Given the description of an element on the screen output the (x, y) to click on. 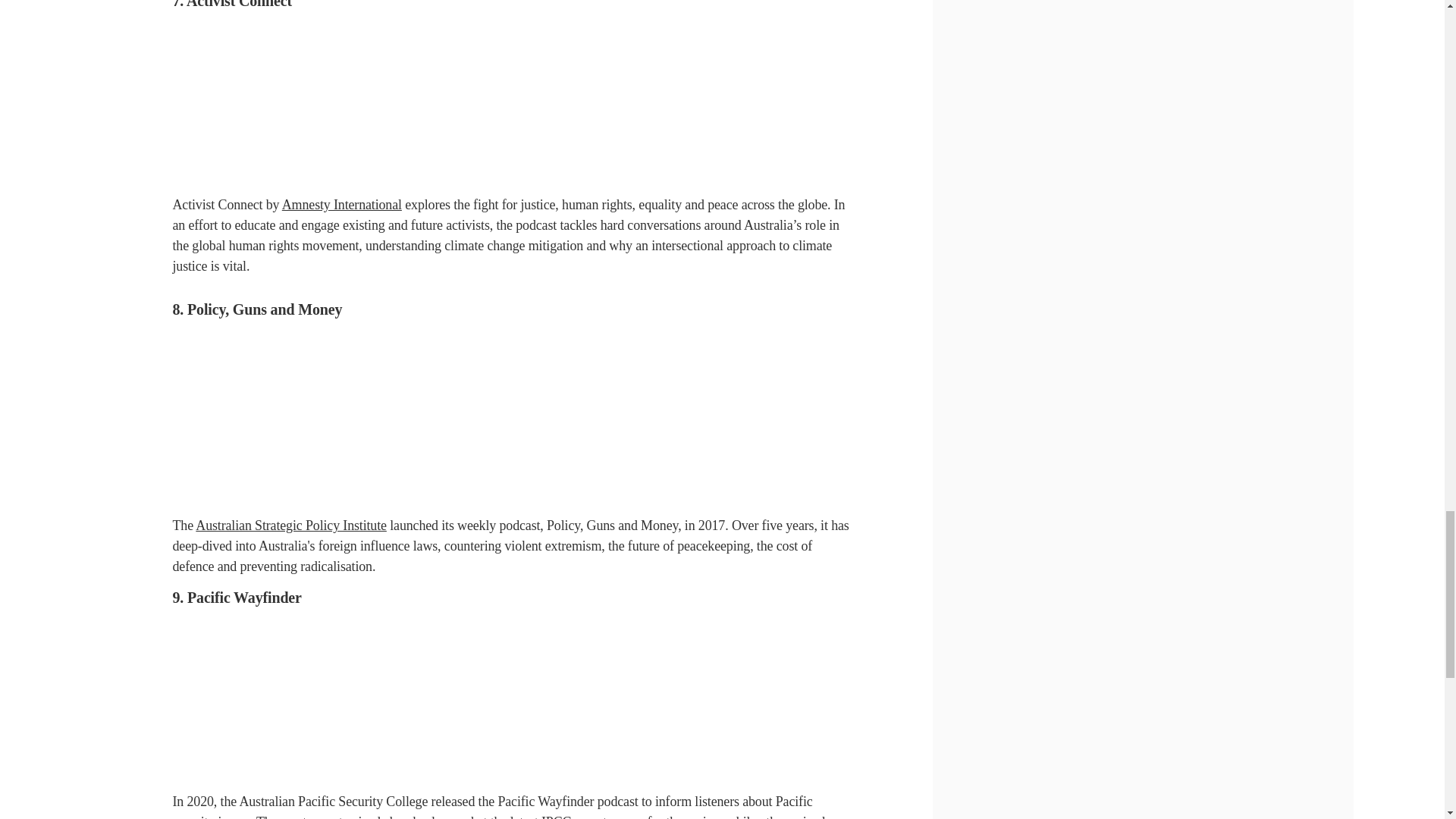
Amnesty International (341, 204)
Australian Strategic Policy Institute (291, 525)
latest IPCC report (559, 816)
